Given the description of an element on the screen output the (x, y) to click on. 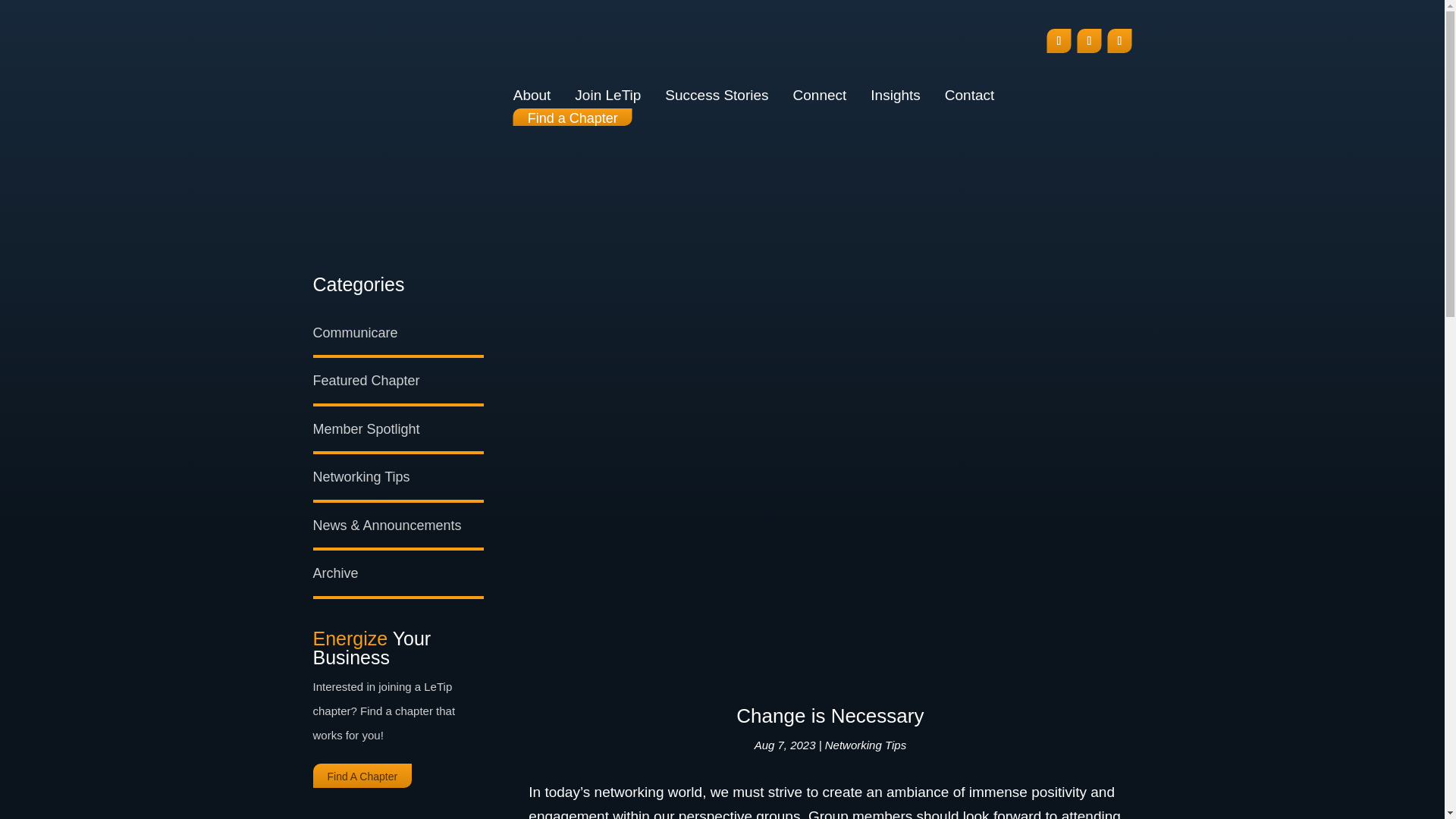
Networking Tips (865, 744)
Join LeTip (607, 95)
Connect (820, 95)
Follow on Instagram (1088, 40)
Follow on Facebook (1058, 40)
Find a Chapter (572, 117)
Communicare (355, 332)
Insights (895, 95)
Networking Tips (361, 476)
Follow on X (1118, 40)
Featured Chapter (366, 380)
Contact (969, 95)
About (532, 95)
Find A Chapter (362, 775)
